Given the description of an element on the screen output the (x, y) to click on. 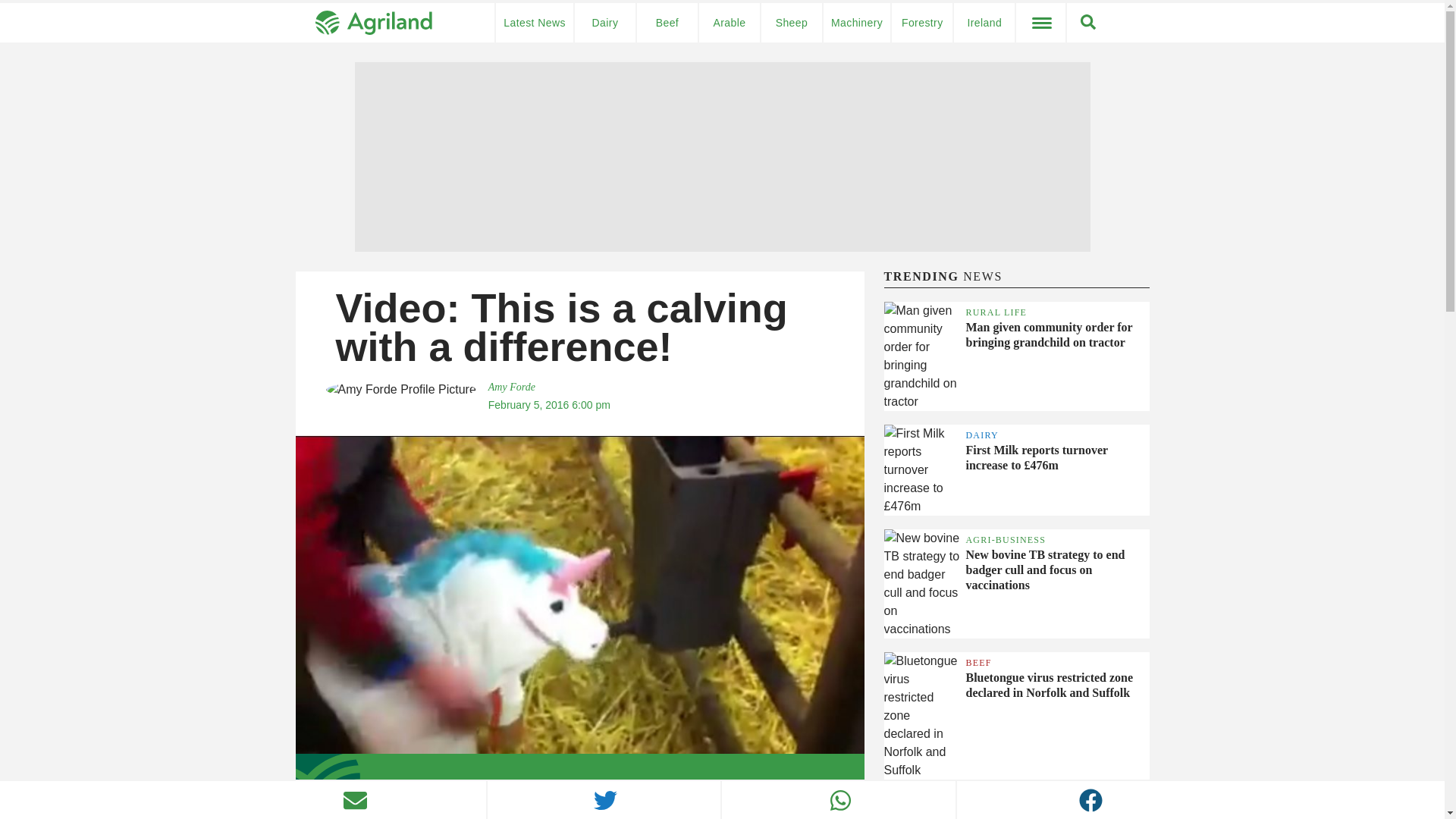
Dairy (604, 22)
Forestry (921, 22)
Beef (667, 22)
Latest News (534, 22)
Sheep (791, 22)
Agriland Logo (373, 21)
Arable (729, 22)
Agriland Logo (373, 22)
Ireland (983, 22)
Machinery (856, 22)
